Given the description of an element on the screen output the (x, y) to click on. 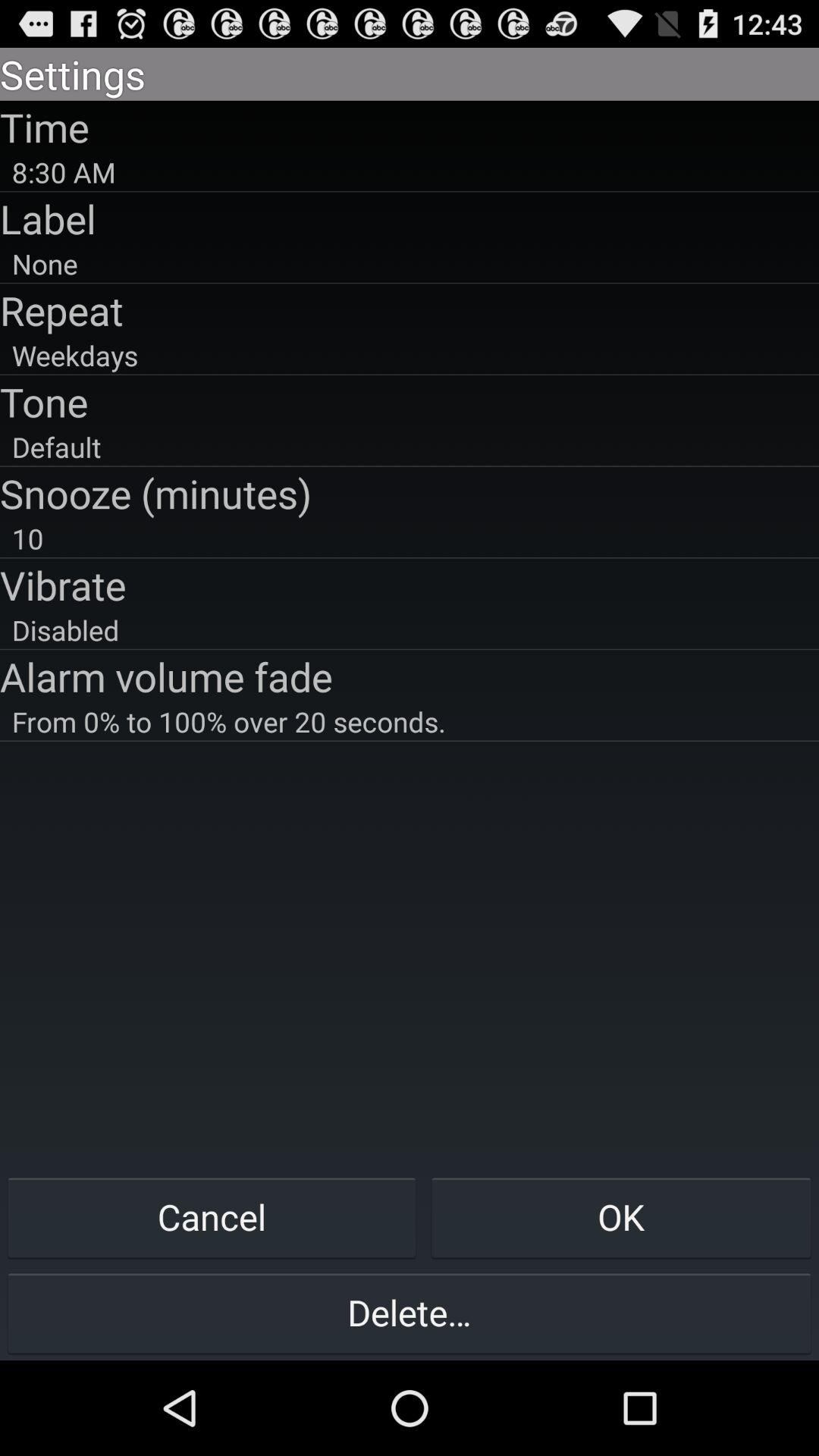
scroll until default icon (409, 446)
